Given the description of an element on the screen output the (x, y) to click on. 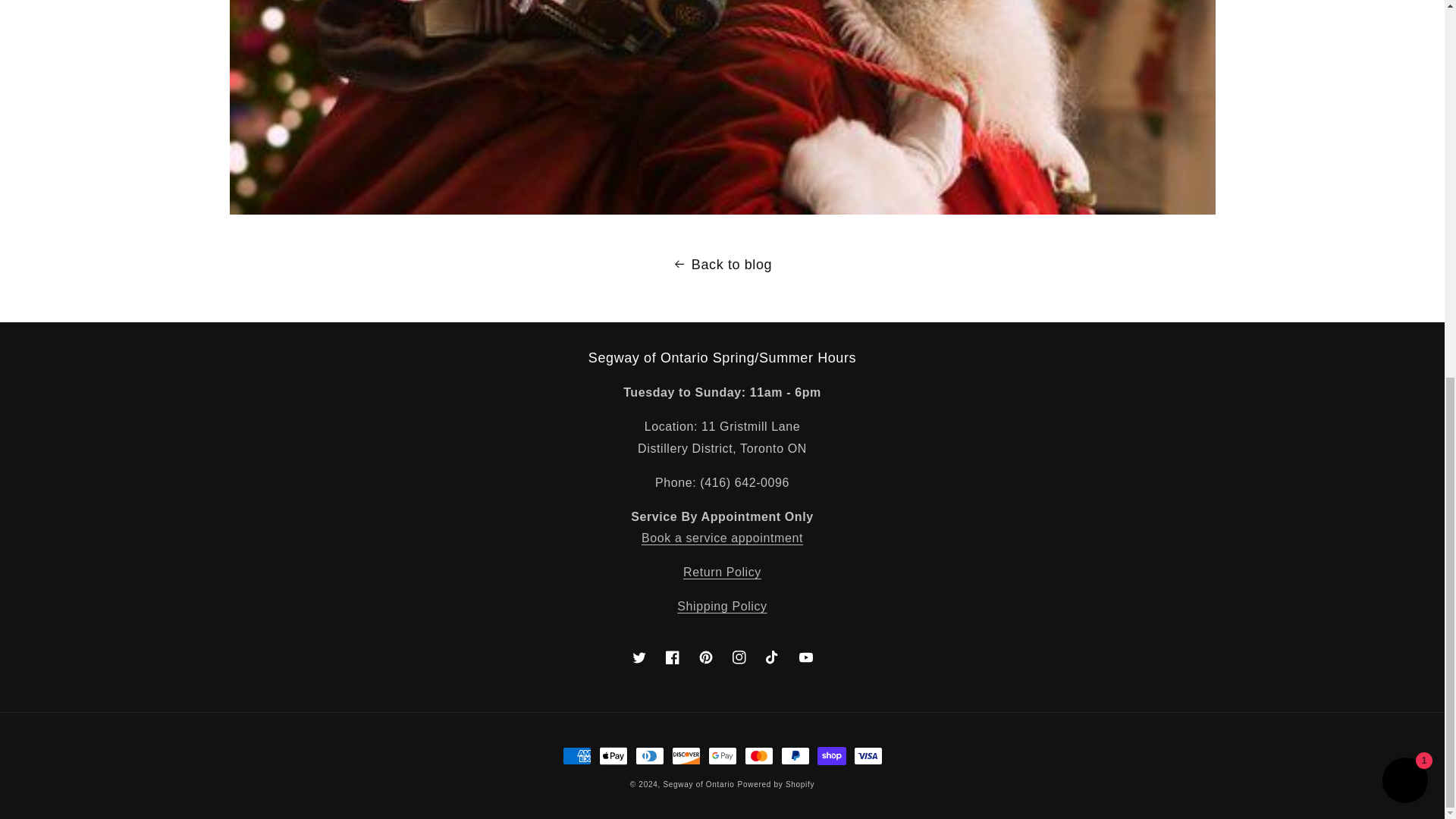
Service (727, 548)
Shopify online store chat (1404, 83)
